Given the description of an element on the screen output the (x, y) to click on. 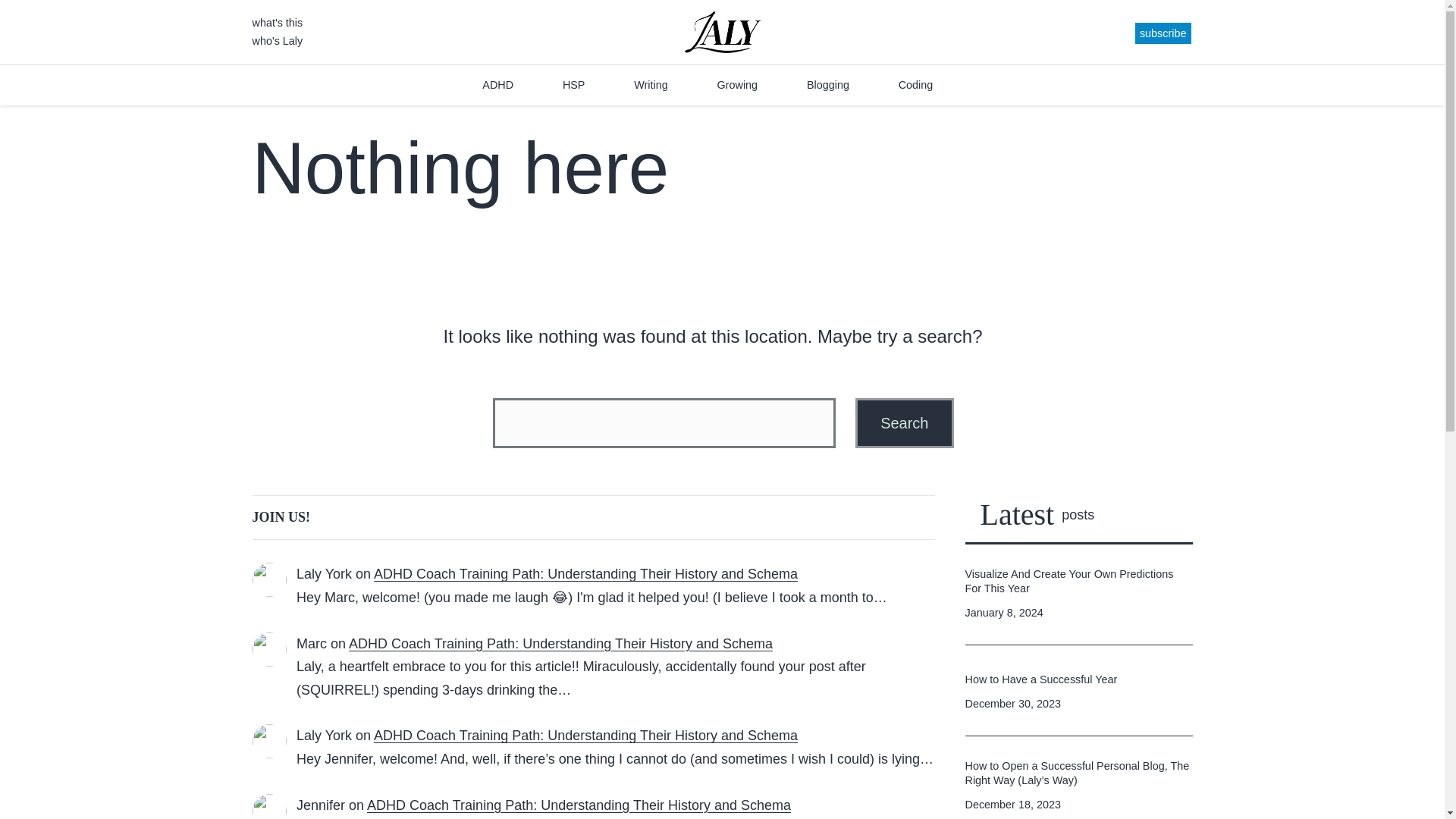
who's Laly (276, 40)
ADHD (496, 84)
Growing (736, 84)
what's this (276, 22)
How to Have a Successful Year (1039, 679)
Search (904, 422)
Coding (915, 84)
Search (904, 422)
Search (904, 422)
